Given the description of an element on the screen output the (x, y) to click on. 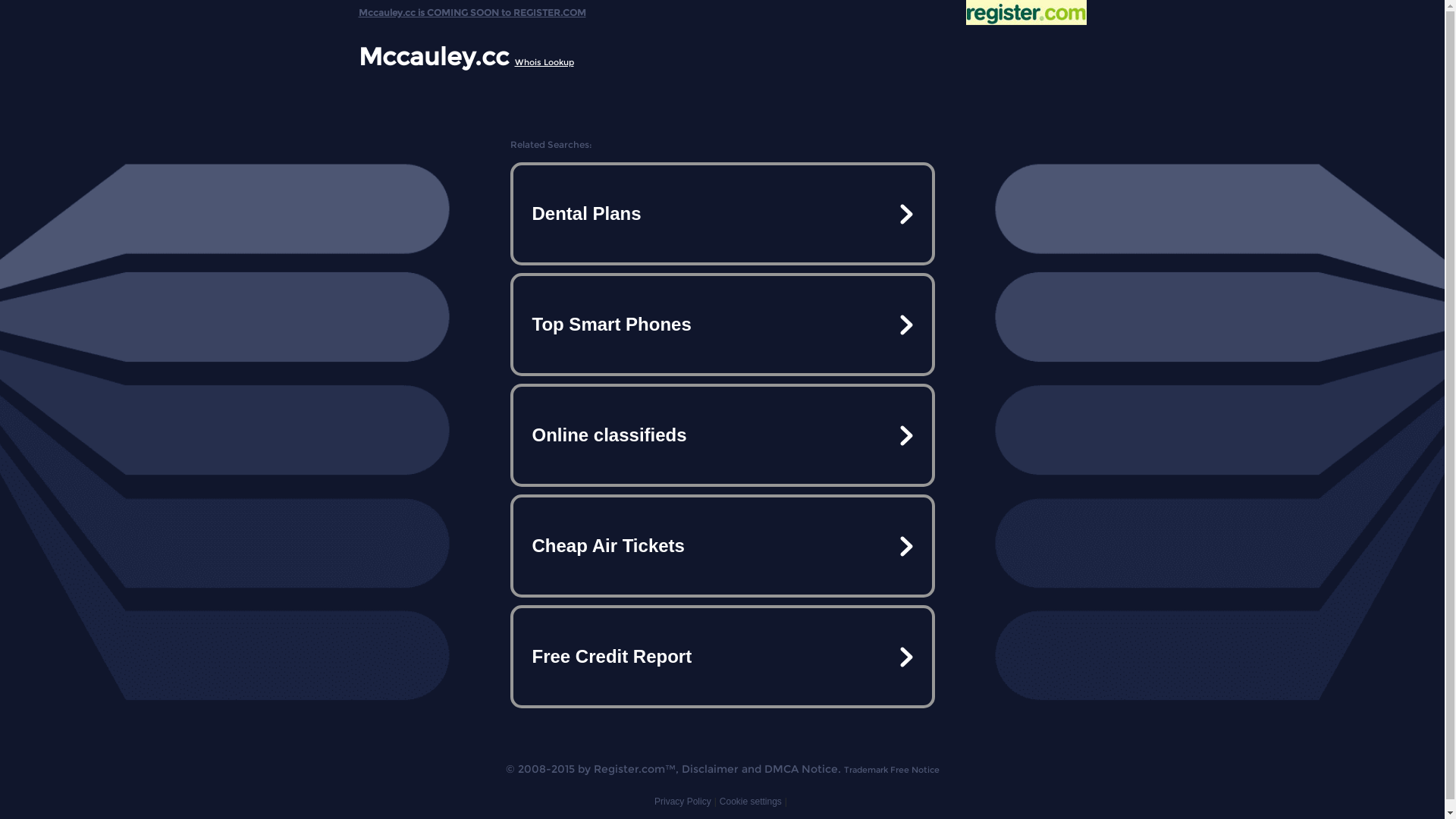
Privacy Policy Element type: text (682, 801)
Cookie settings Element type: text (750, 801)
Trademark Free Notice Element type: text (890, 769)
Whois Lookup Element type: text (543, 61)
Top Smart Phones Element type: text (721, 324)
Mccauley.cc is COMING SOON to REGISTER.COM Element type: text (471, 9)
Dental Plans Element type: text (721, 213)
Cheap Air Tickets Element type: text (721, 545)
Free Credit Report Element type: text (721, 656)
Mccauley.cc Element type: text (432, 56)
Online classifieds Element type: text (721, 434)
